Given the description of an element on the screen output the (x, y) to click on. 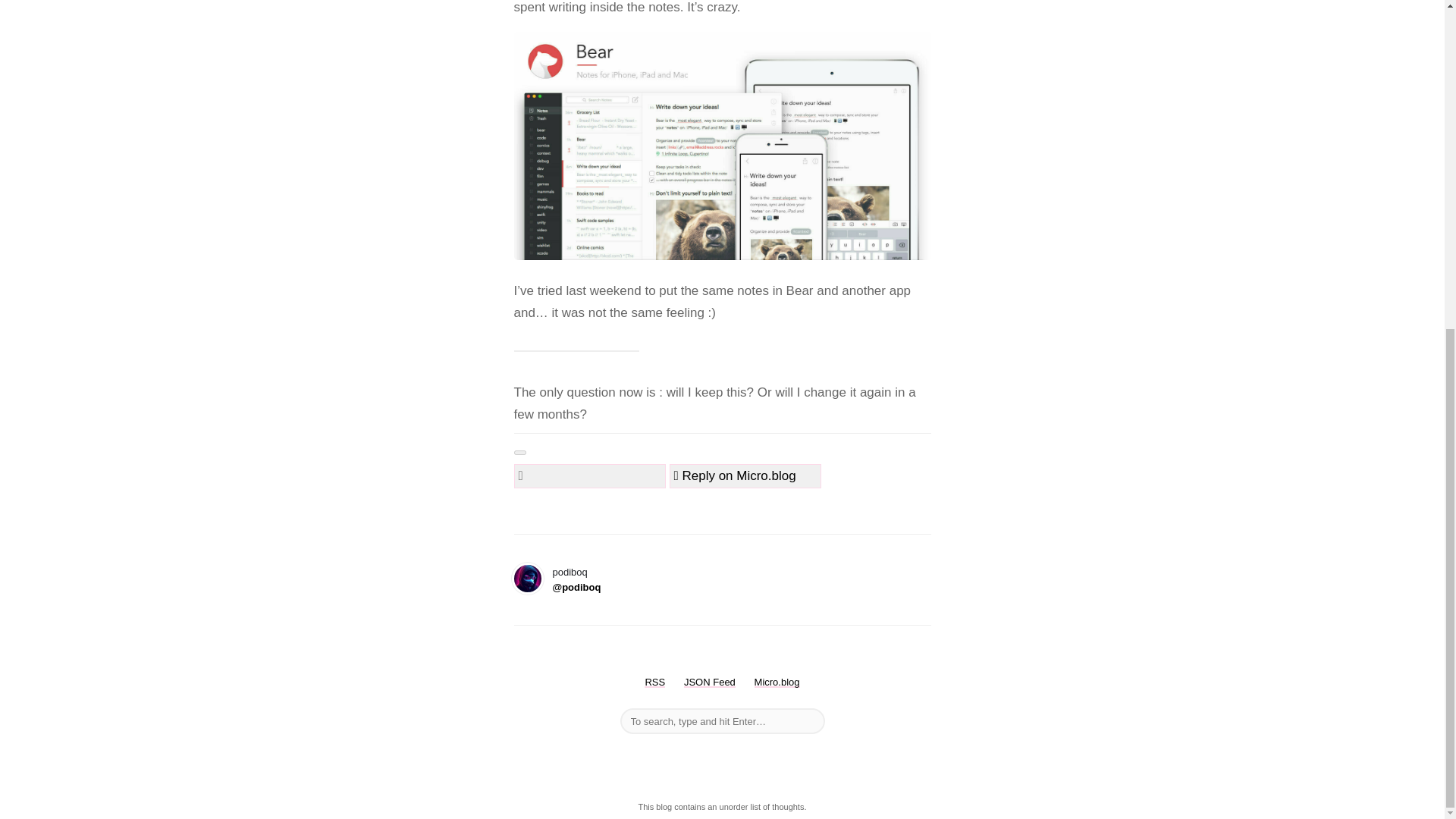
Micro.blog (776, 681)
RSS (655, 681)
podiboq (575, 578)
JSON Feed (709, 681)
Reply on Micro.blog (733, 475)
